Given the description of an element on the screen output the (x, y) to click on. 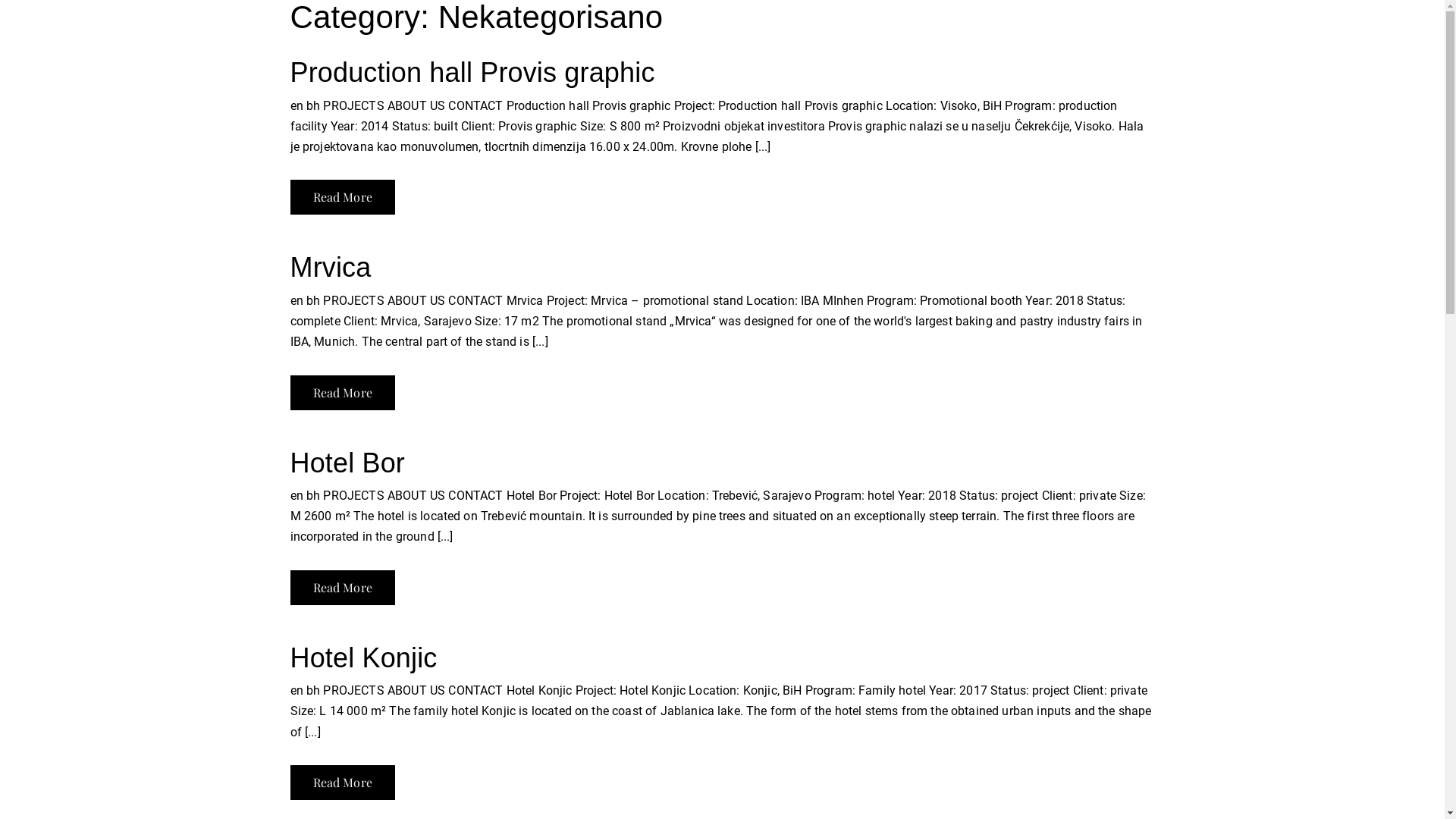
Hotel Bor Element type: text (346, 462)
Read More Element type: text (341, 391)
Read More Element type: text (341, 782)
Production hall Provis graphic Element type: text (471, 71)
Read More Element type: text (341, 587)
Mrvica Element type: text (329, 266)
Hotel Konjic Element type: text (362, 657)
Read More Element type: text (341, 196)
